Given the description of an element on the screen output the (x, y) to click on. 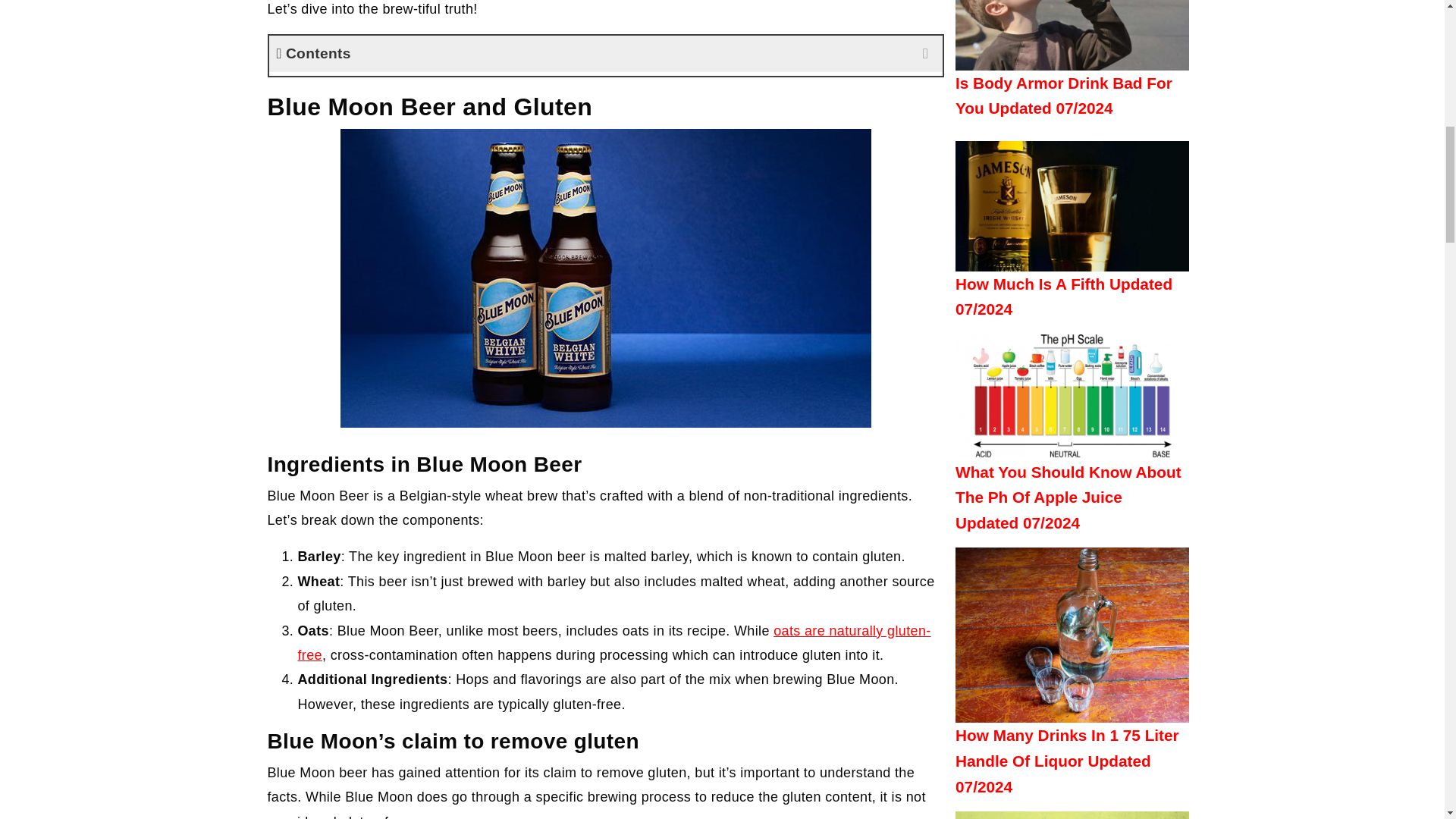
oats are naturally gluten-free (613, 642)
